Given the description of an element on the screen output the (x, y) to click on. 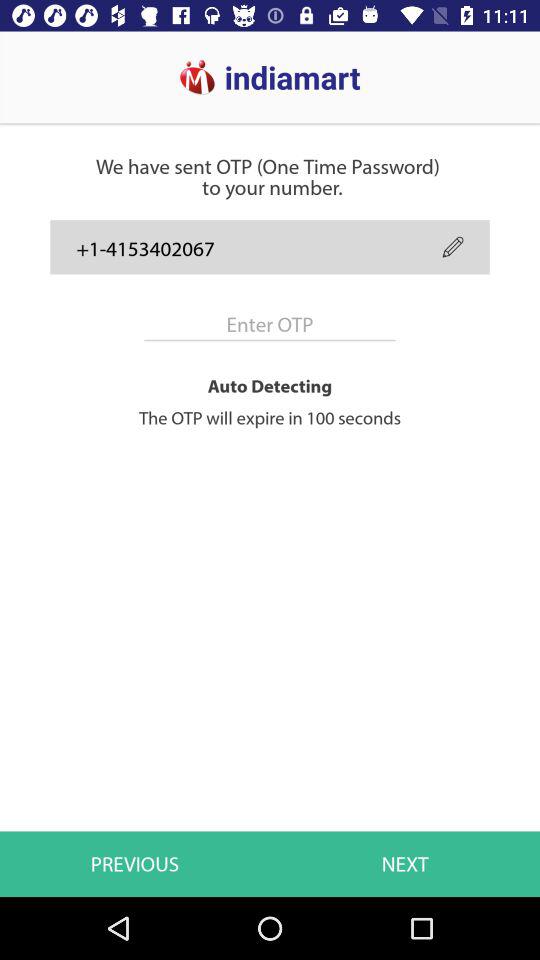
press the icon next to next icon (135, 863)
